Given the description of an element on the screen output the (x, y) to click on. 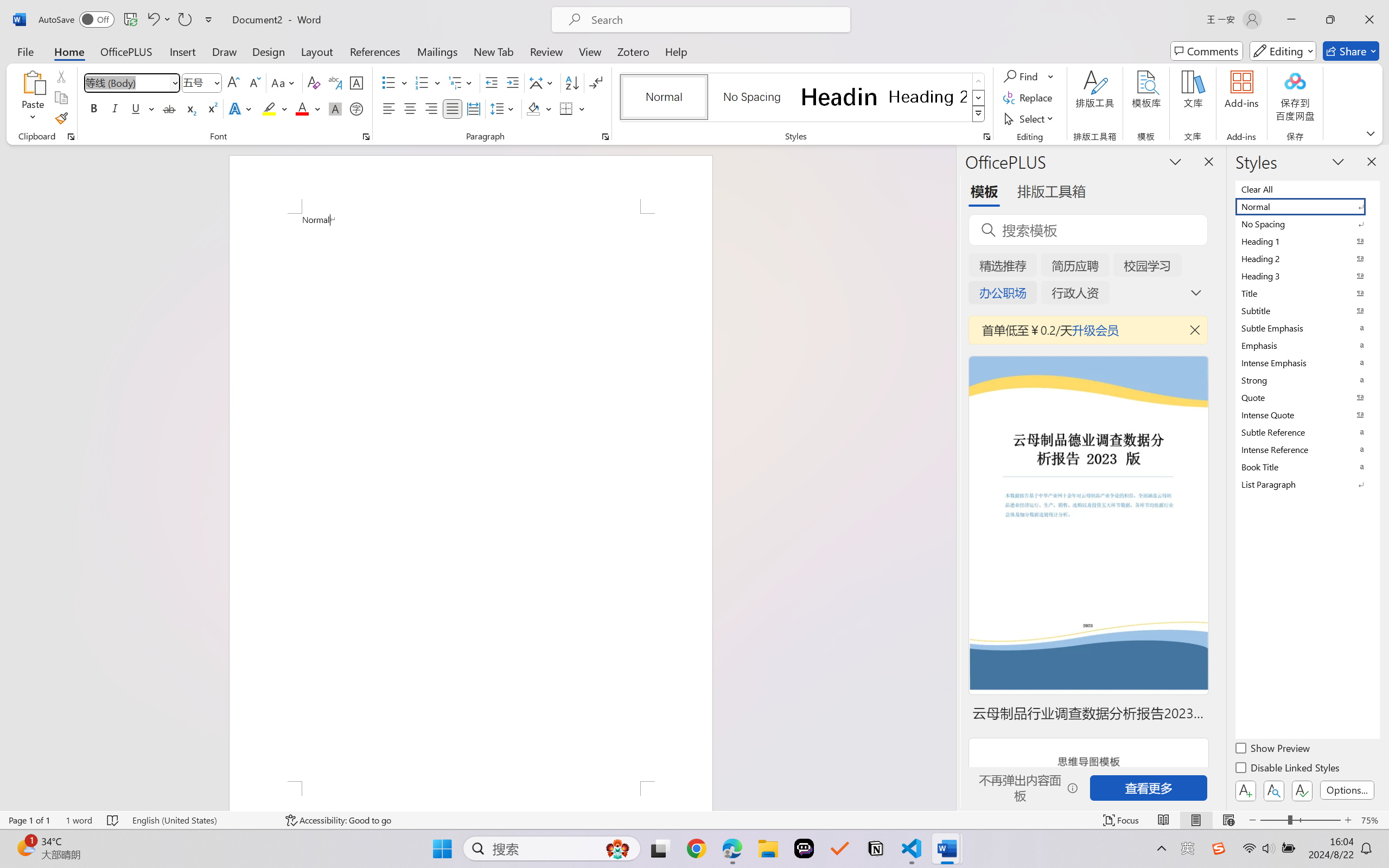
Underline (135, 108)
View (589, 51)
Font (126, 82)
Normal (1306, 206)
Minimize (1291, 19)
AutomationID: QuickStylesGallery (802, 97)
Clear All (1306, 188)
Home (69, 51)
Language English (United States) (201, 819)
Enclose Characters... (356, 108)
Heading 1 (839, 96)
Mailings (437, 51)
Borders (571, 108)
Font Size (201, 82)
